Given the description of an element on the screen output the (x, y) to click on. 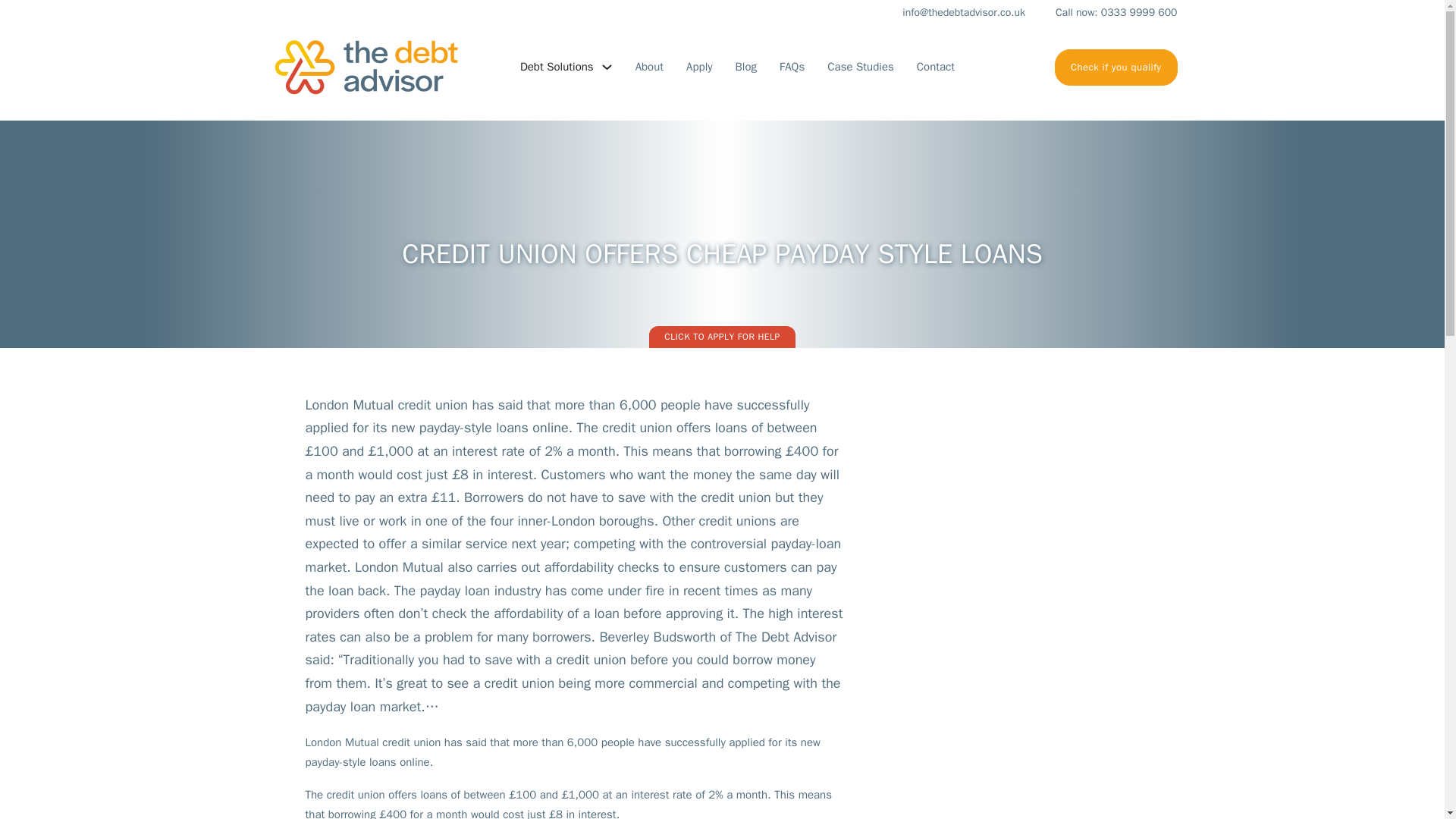
Email TDA (948, 13)
Check if you qualify (1115, 67)
Case Studies (859, 67)
Call now: 0333 9999 600 (1101, 13)
Debt Case Studies (859, 67)
CLICK TO APPLY FOR HELP (721, 336)
Apply for an IVA (1115, 67)
Call 0333 9999 600 telephone now (1101, 13)
